Given the description of an element on the screen output the (x, y) to click on. 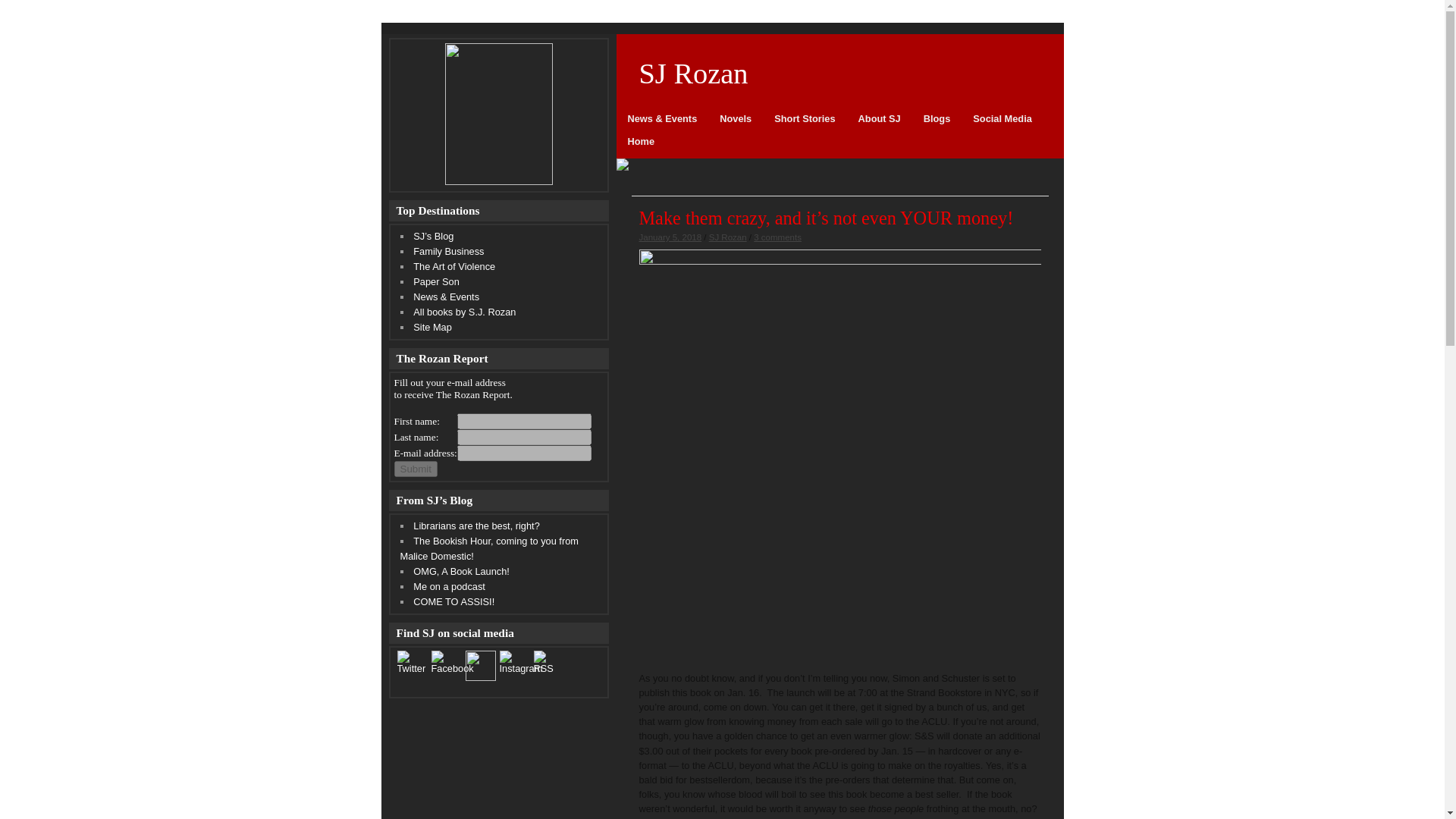
Instagram (520, 662)
Posts by SJ Rozan (727, 236)
Submit (416, 468)
Facebook (451, 662)
RSS (550, 662)
Twitter (413, 662)
SJ Rozan (838, 73)
Novels (734, 124)
